Given the description of an element on the screen output the (x, y) to click on. 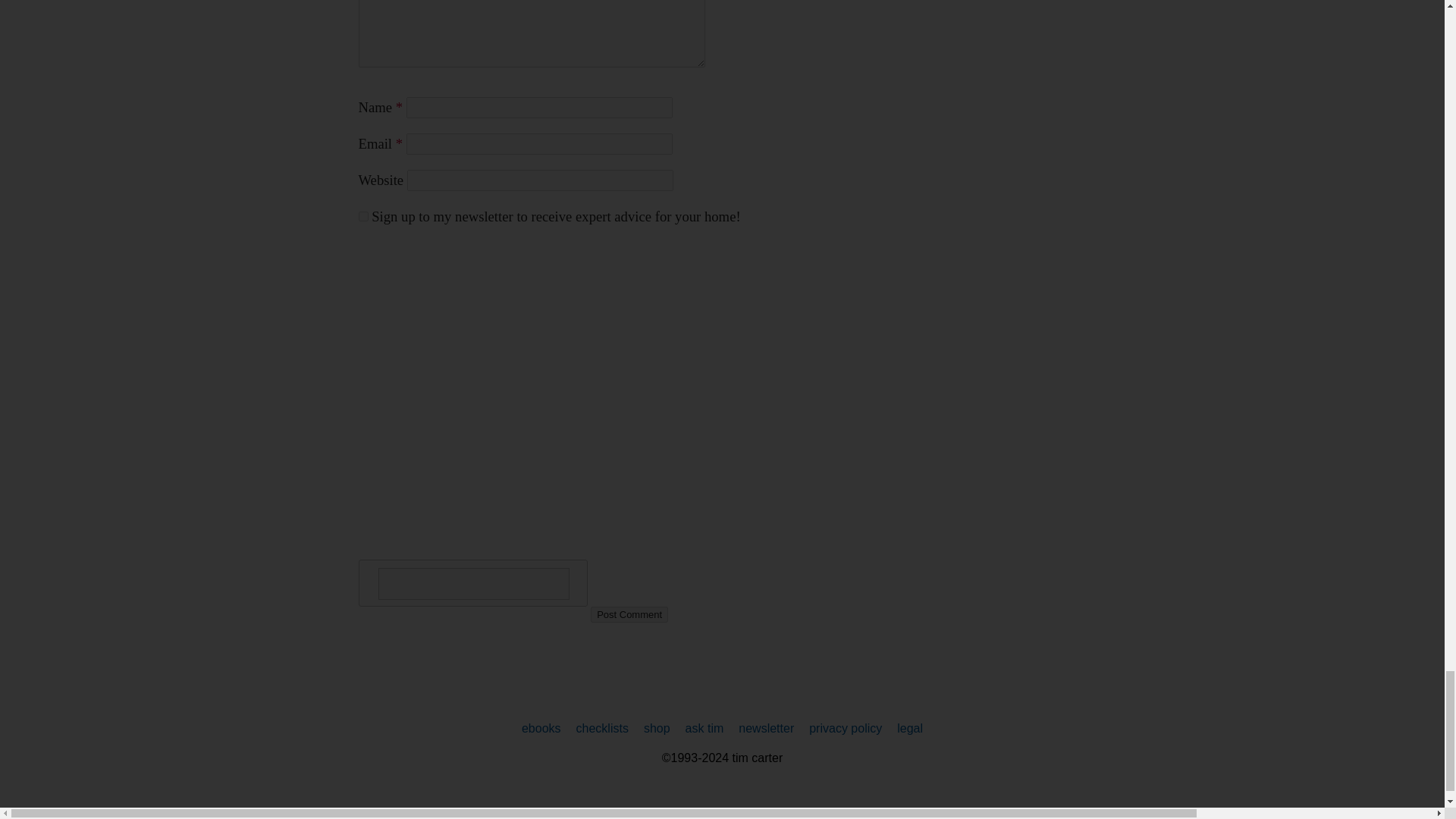
Post Comment (629, 614)
1 (363, 216)
